Given the description of an element on the screen output the (x, y) to click on. 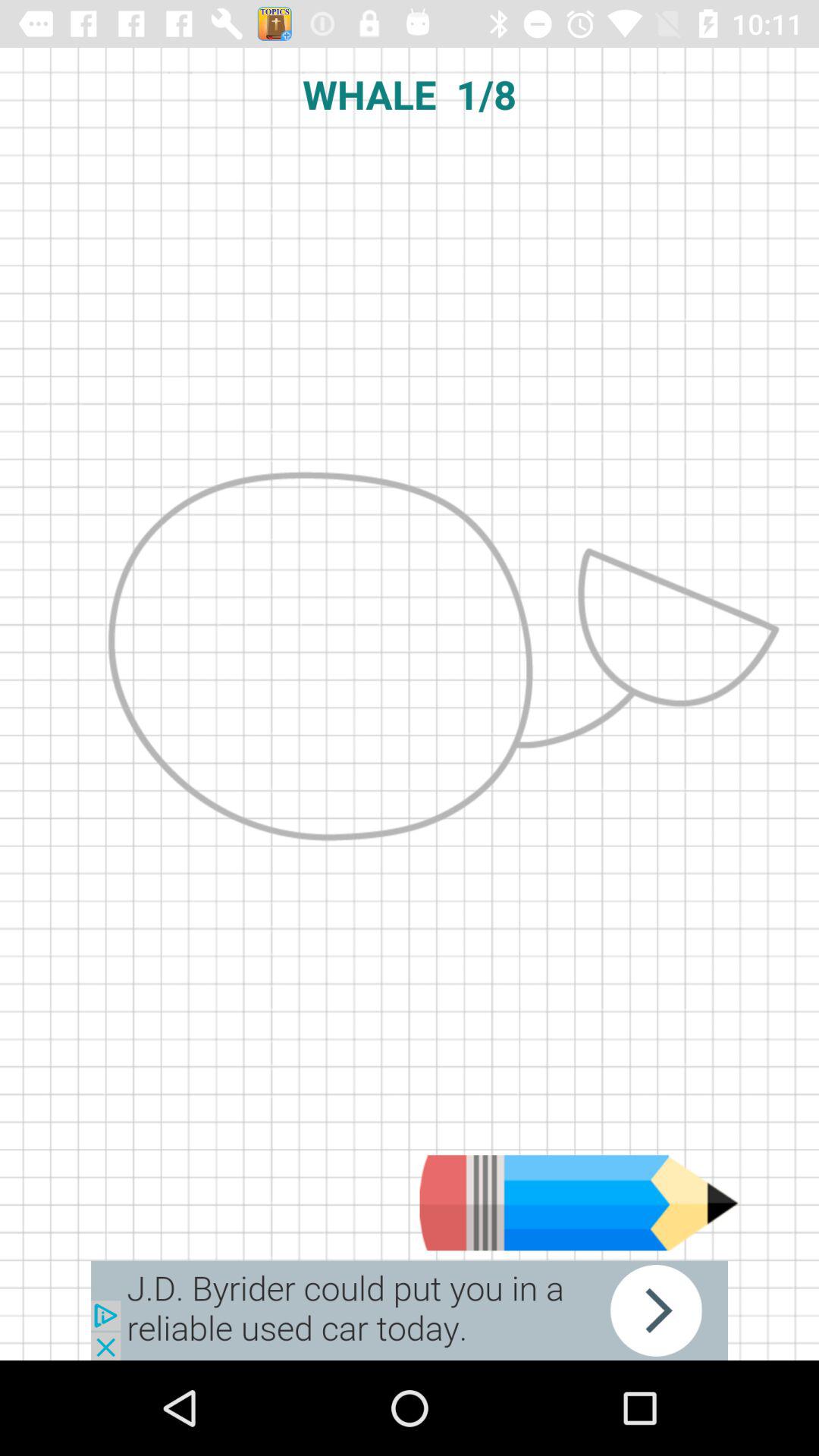
toggle drawing option (578, 1202)
